Given the description of an element on the screen output the (x, y) to click on. 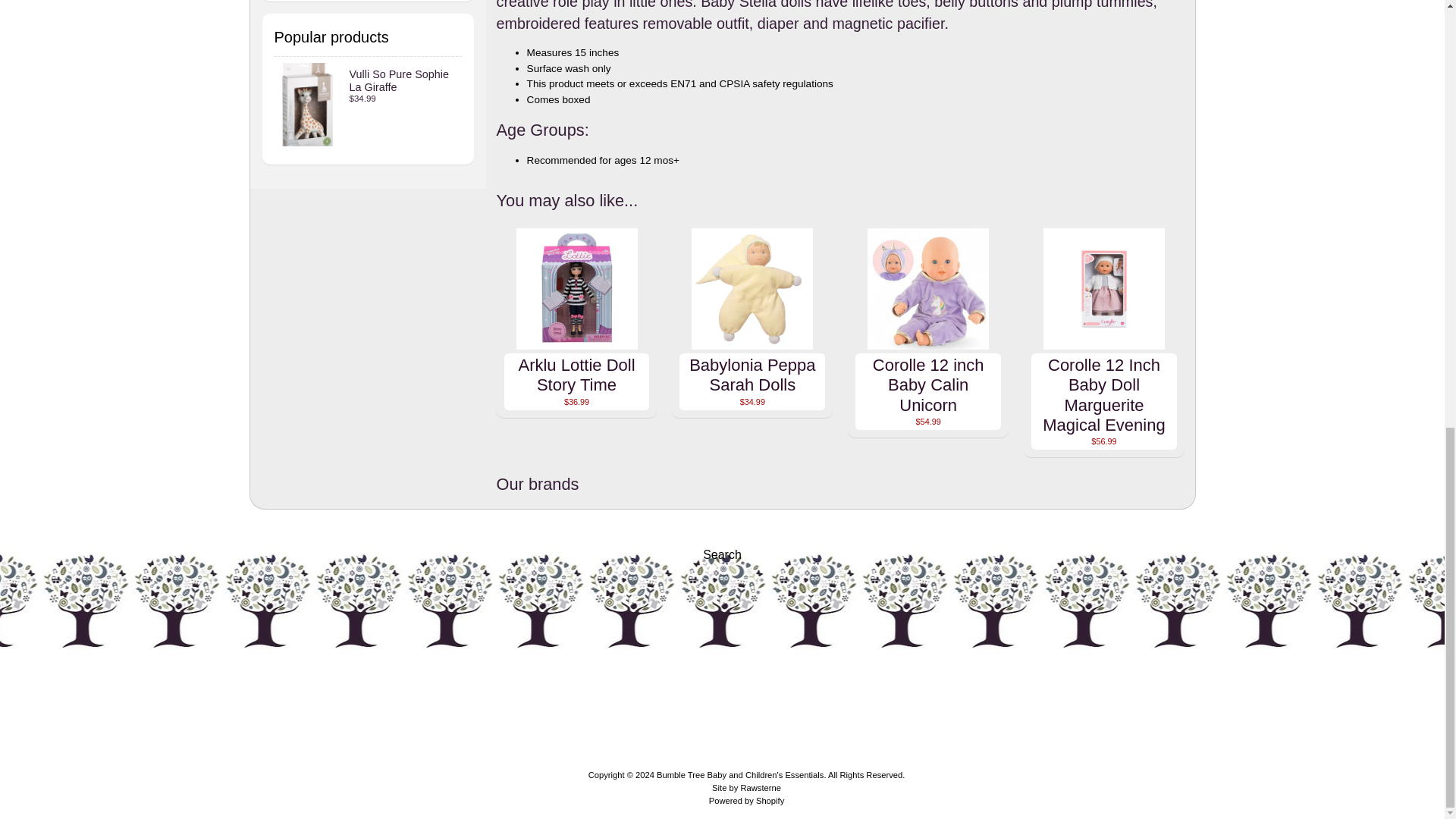
Our brands (840, 484)
Our brands (840, 484)
